Given the description of an element on the screen output the (x, y) to click on. 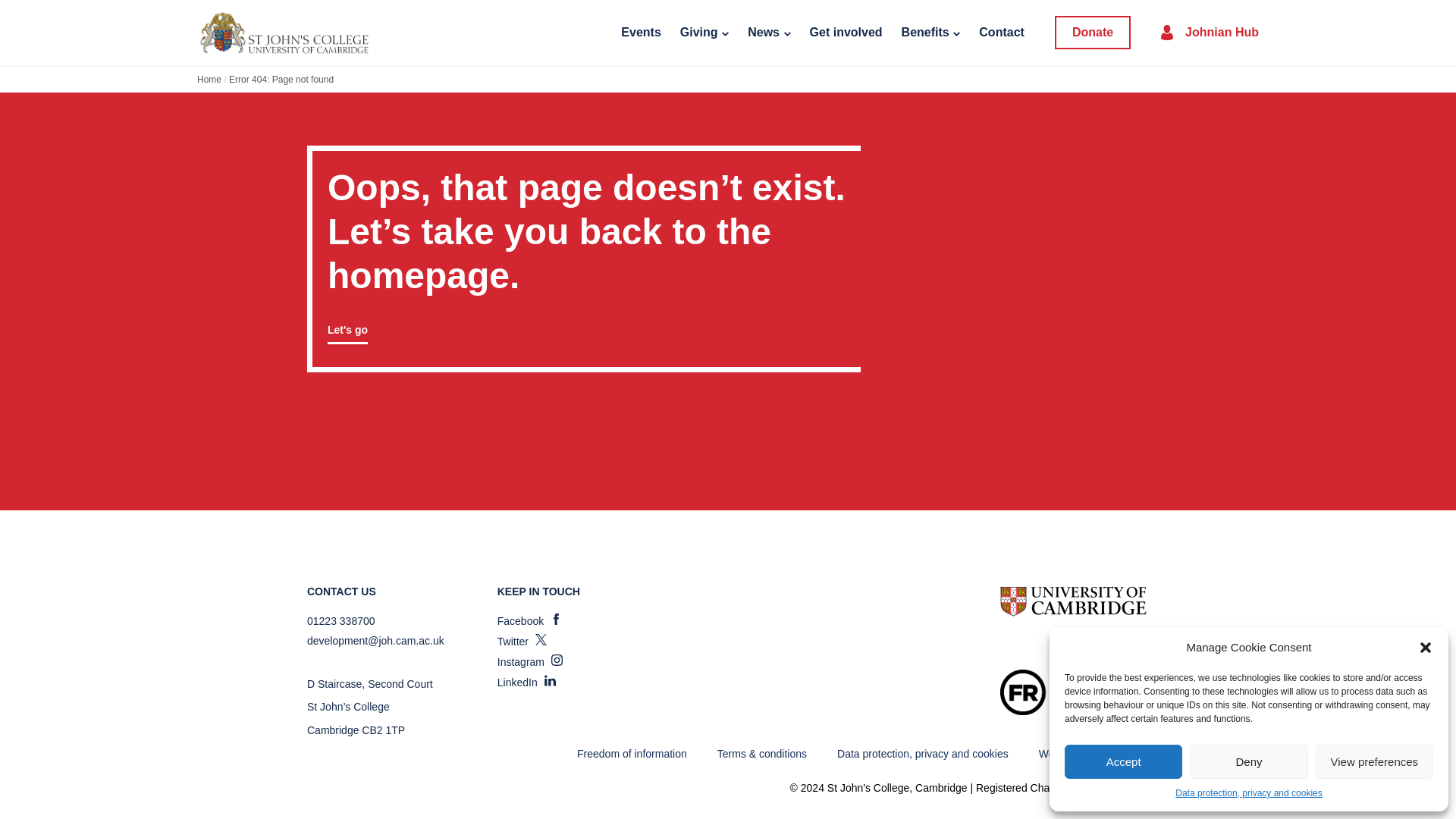
Donate (1092, 32)
View preferences (1374, 761)
Accept (1123, 761)
Let's go (347, 329)
Deny (1248, 761)
Get involved (845, 33)
Benefits (930, 33)
Data protection, privacy and cookies (1248, 793)
Johnian Hub (1209, 32)
Johnian (283, 32)
